Given the description of an element on the screen output the (x, y) to click on. 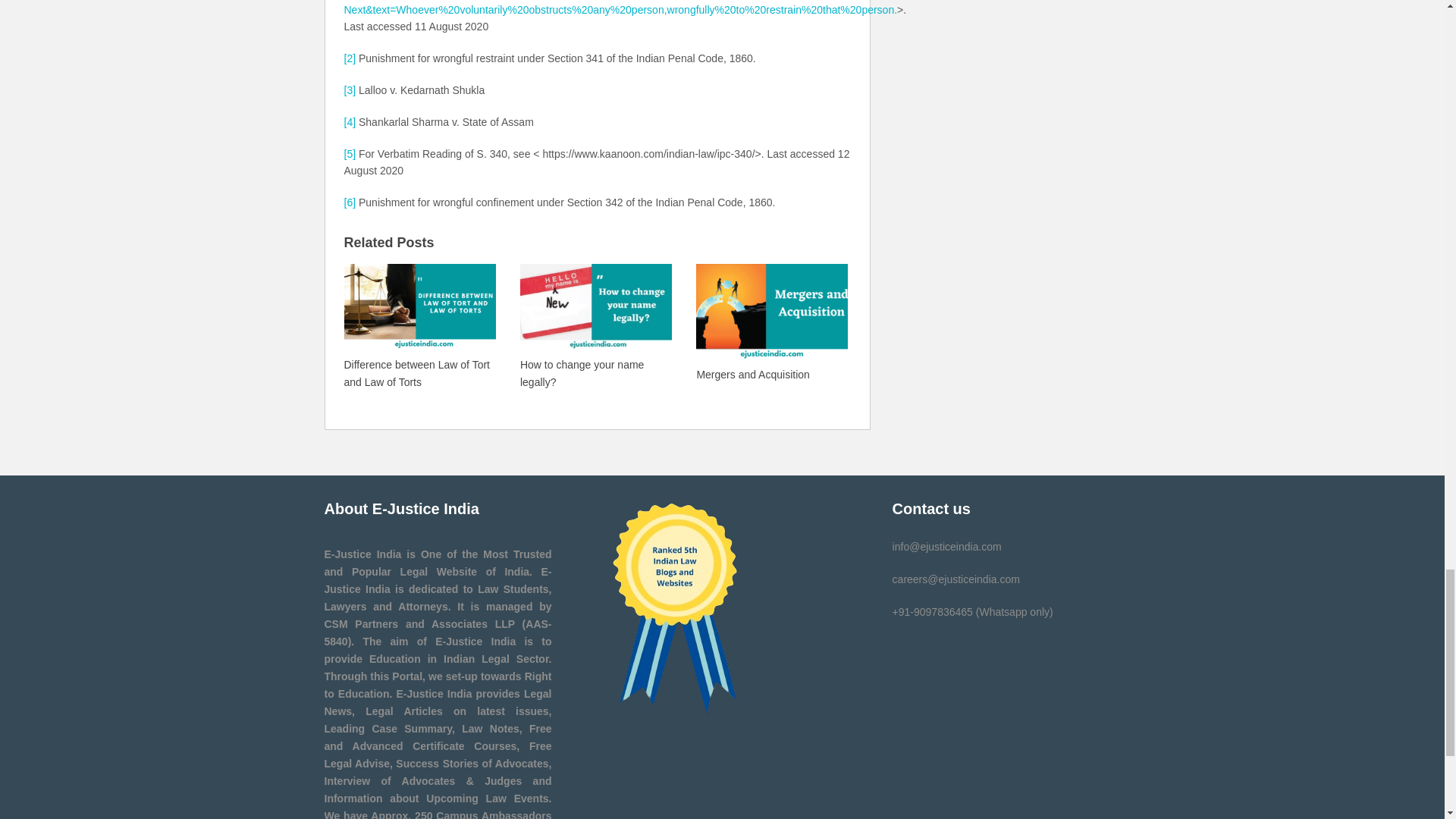
Difference between Law of Tort and Law of Torts (419, 326)
How to change your name legally? (595, 326)
Mergers and Acquisition (771, 322)
